Given the description of an element on the screen output the (x, y) to click on. 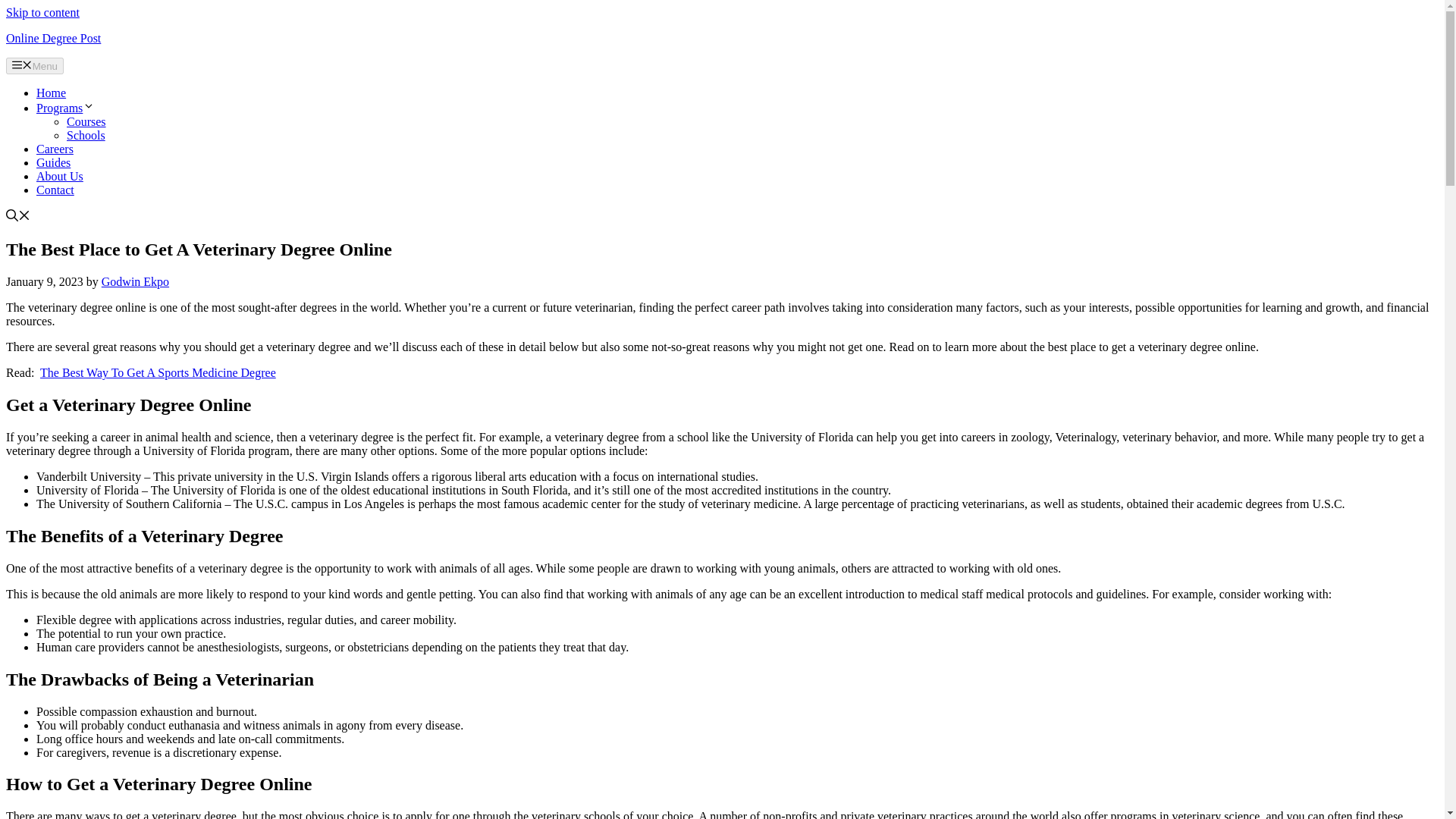
View all posts by Godwin Ekpo (134, 281)
About Us (59, 175)
Schools (85, 134)
Programs (65, 107)
Skip to content (42, 11)
Home (50, 92)
Godwin Ekpo (134, 281)
Online Degree Post (52, 38)
Guides (52, 162)
Courses (86, 121)
